Given the description of an element on the screen output the (x, y) to click on. 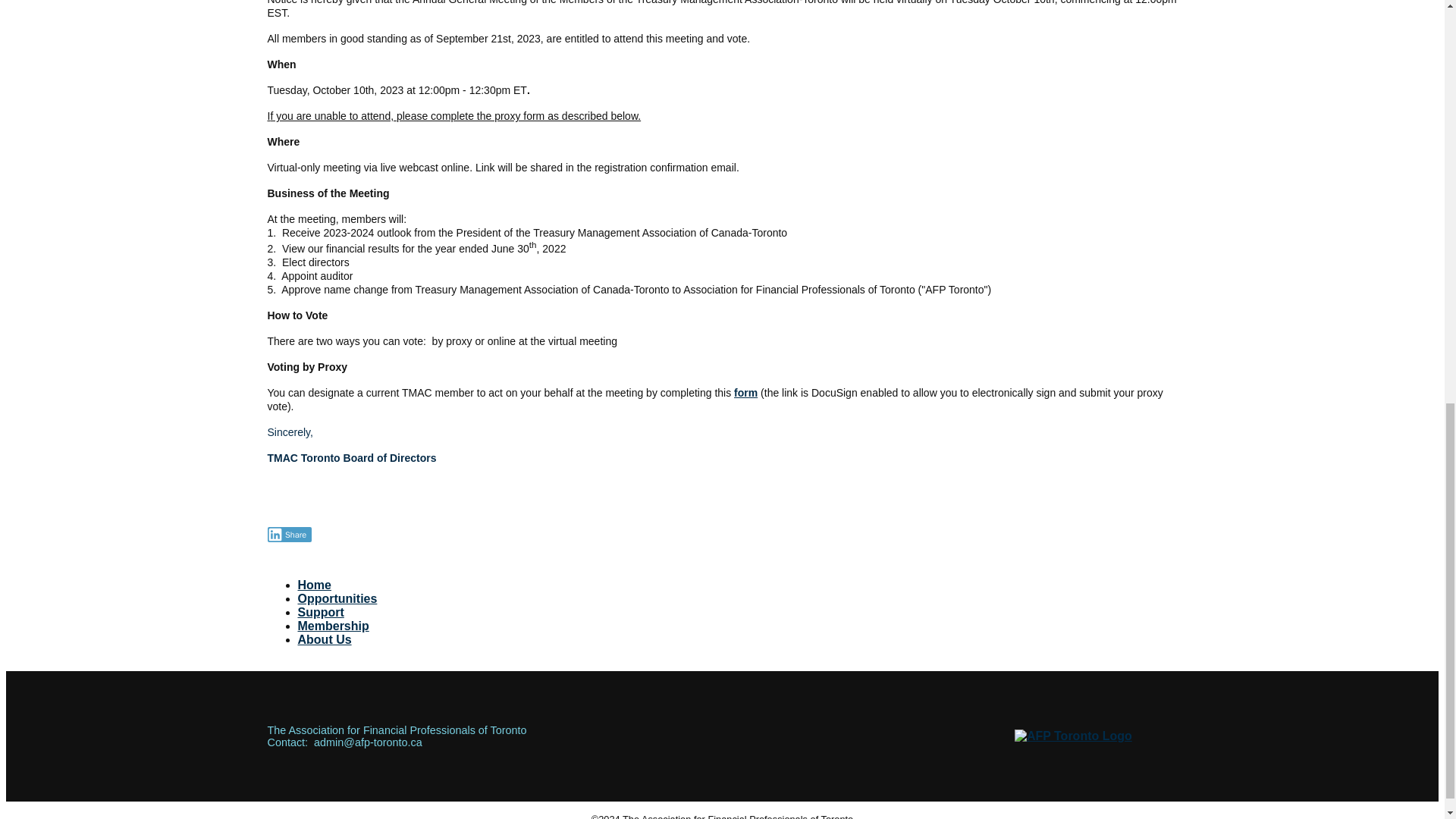
About Us (323, 639)
Opportunities (337, 598)
Support (320, 612)
Share (288, 534)
form (745, 392)
Home (313, 584)
Home (313, 584)
Membership (332, 625)
Opportunities (337, 598)
About Us (323, 639)
Support (320, 612)
Membership (332, 625)
